Given the description of an element on the screen output the (x, y) to click on. 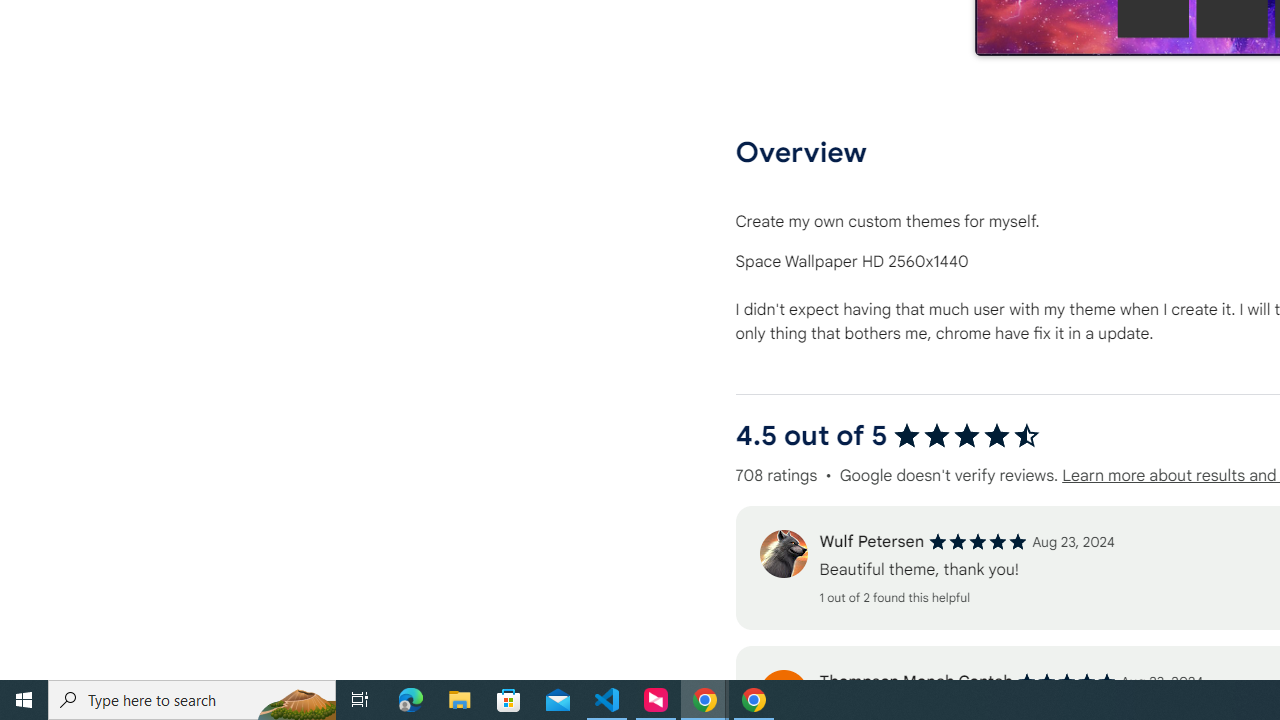
5 out of 5 stars (1066, 682)
4.5 out of 5 stars (965, 436)
Review's profile picture (783, 694)
